Given the description of an element on the screen output the (x, y) to click on. 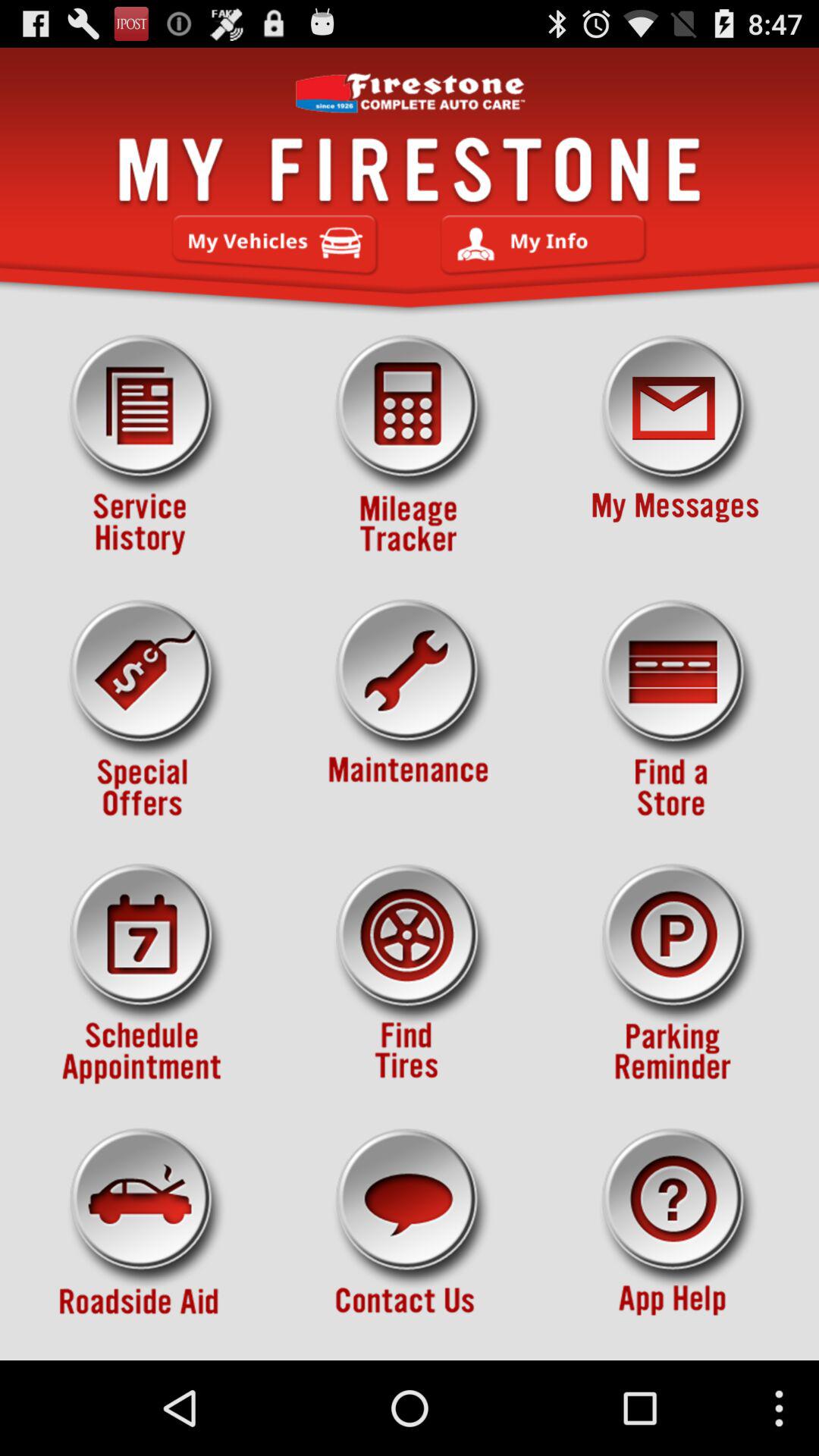
service history (143, 445)
